Given the description of an element on the screen output the (x, y) to click on. 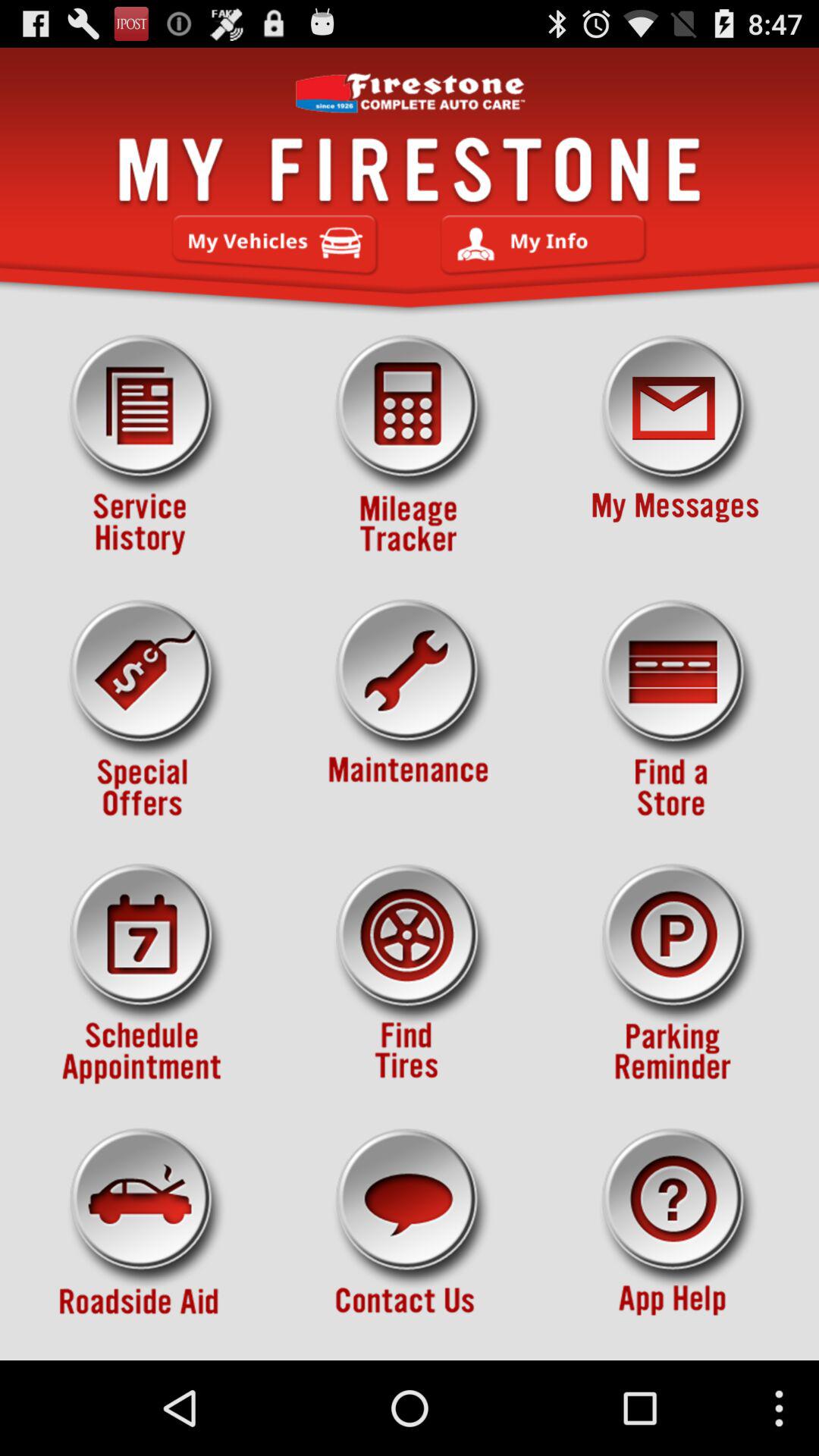
service history (143, 445)
